Given the description of an element on the screen output the (x, y) to click on. 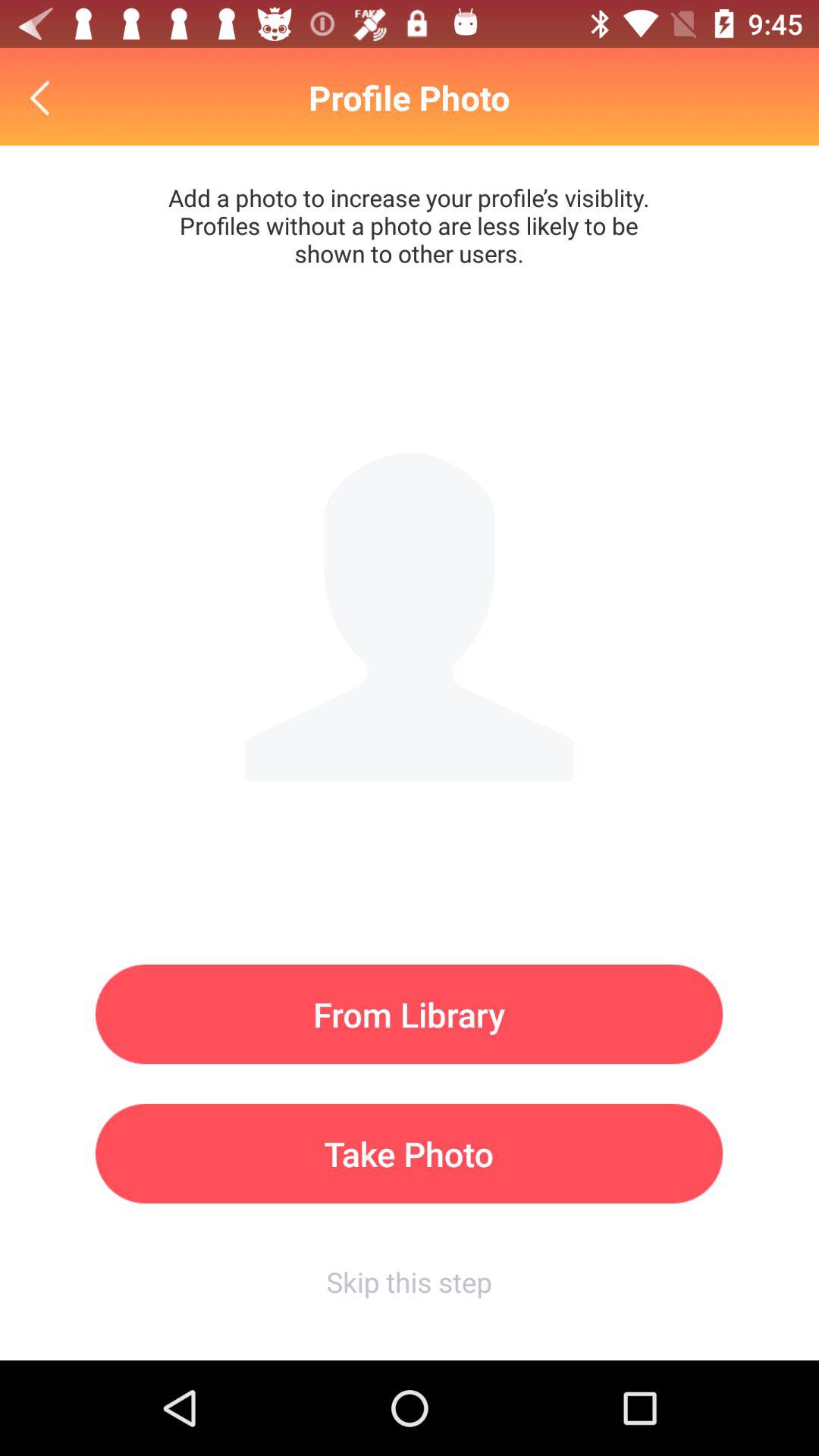
select the item to the left of profile photo item (43, 97)
